Given the description of an element on the screen output the (x, y) to click on. 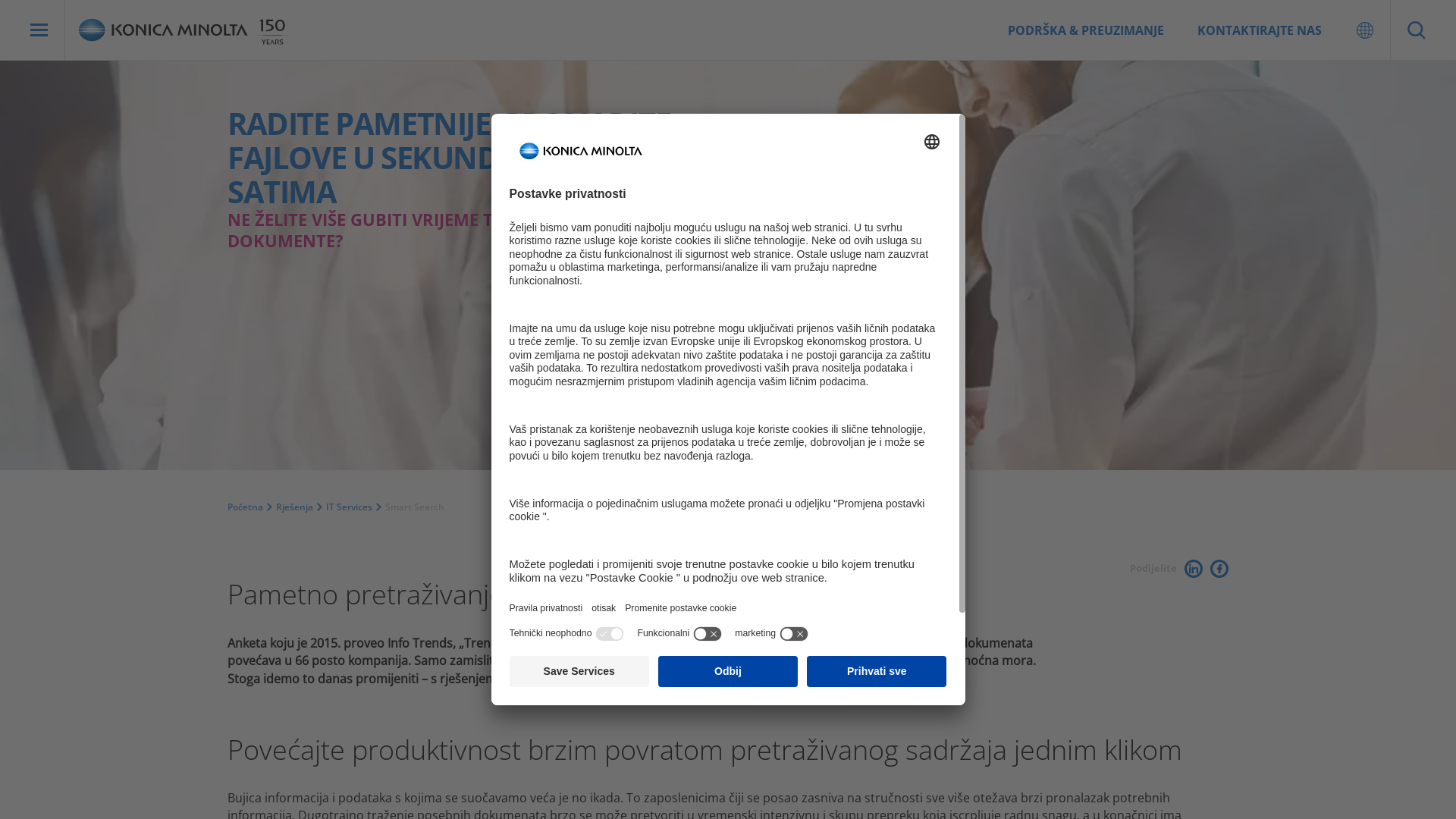
KONTAKTIRAJTE NAS Element type: text (1259, 30)
IT Services Element type: text (349, 507)
Search Element type: text (1416, 30)
